Given the description of an element on the screen output the (x, y) to click on. 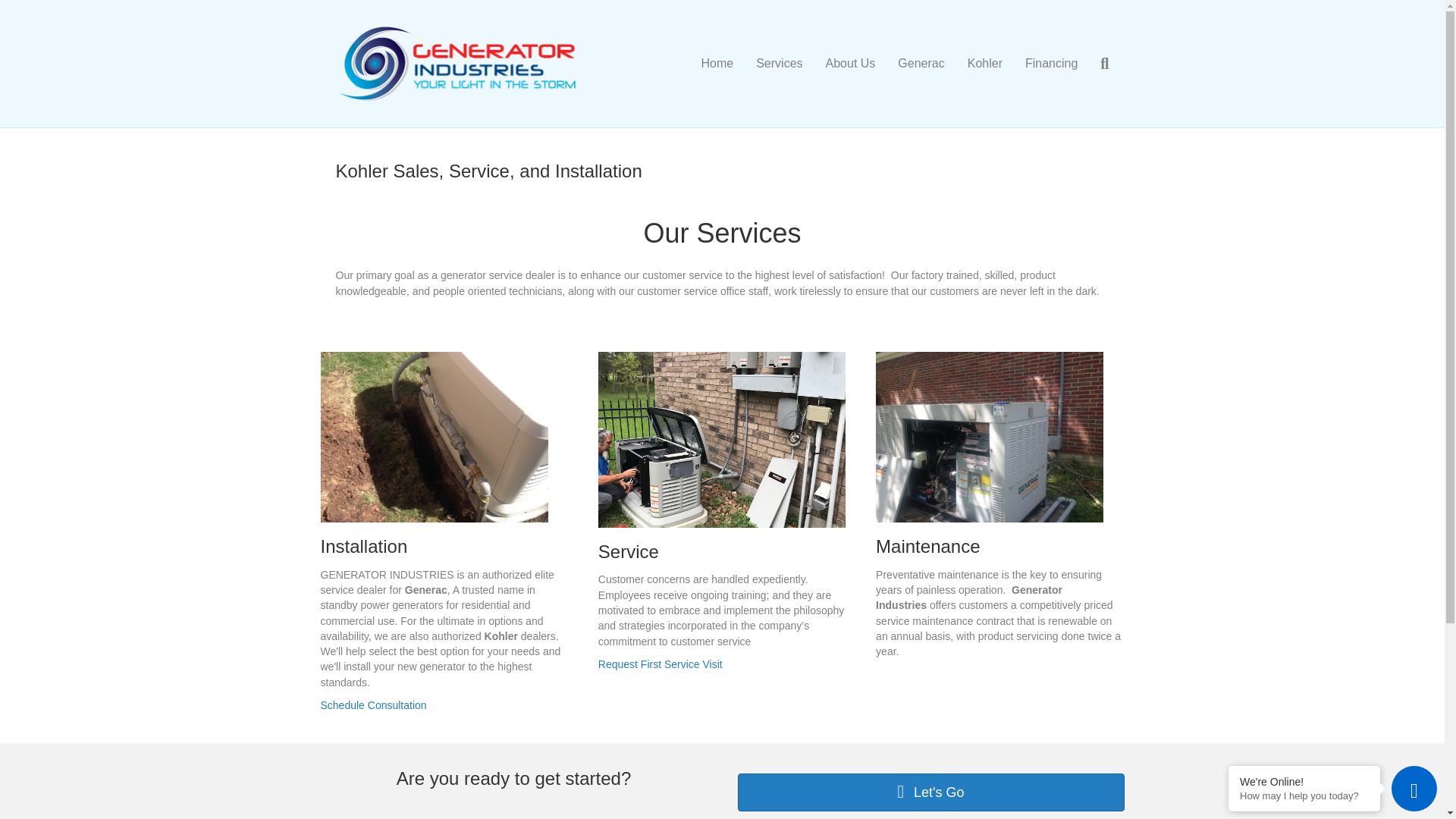
Services (778, 63)
Installation (363, 546)
Financing (1051, 63)
Service (628, 551)
Generator Maintenance Mike2 (721, 439)
Let's Go (930, 791)
Kohler Sales, Service, and Installation (488, 170)
Home (717, 63)
Generac Quietsource (989, 437)
Generator Gas installation (433, 437)
Kohler Sales, Service, and Installation (488, 170)
We're Online! (1304, 781)
Maintenance (927, 546)
Kohler (984, 63)
Generac (920, 63)
